Given the description of an element on the screen output the (x, y) to click on. 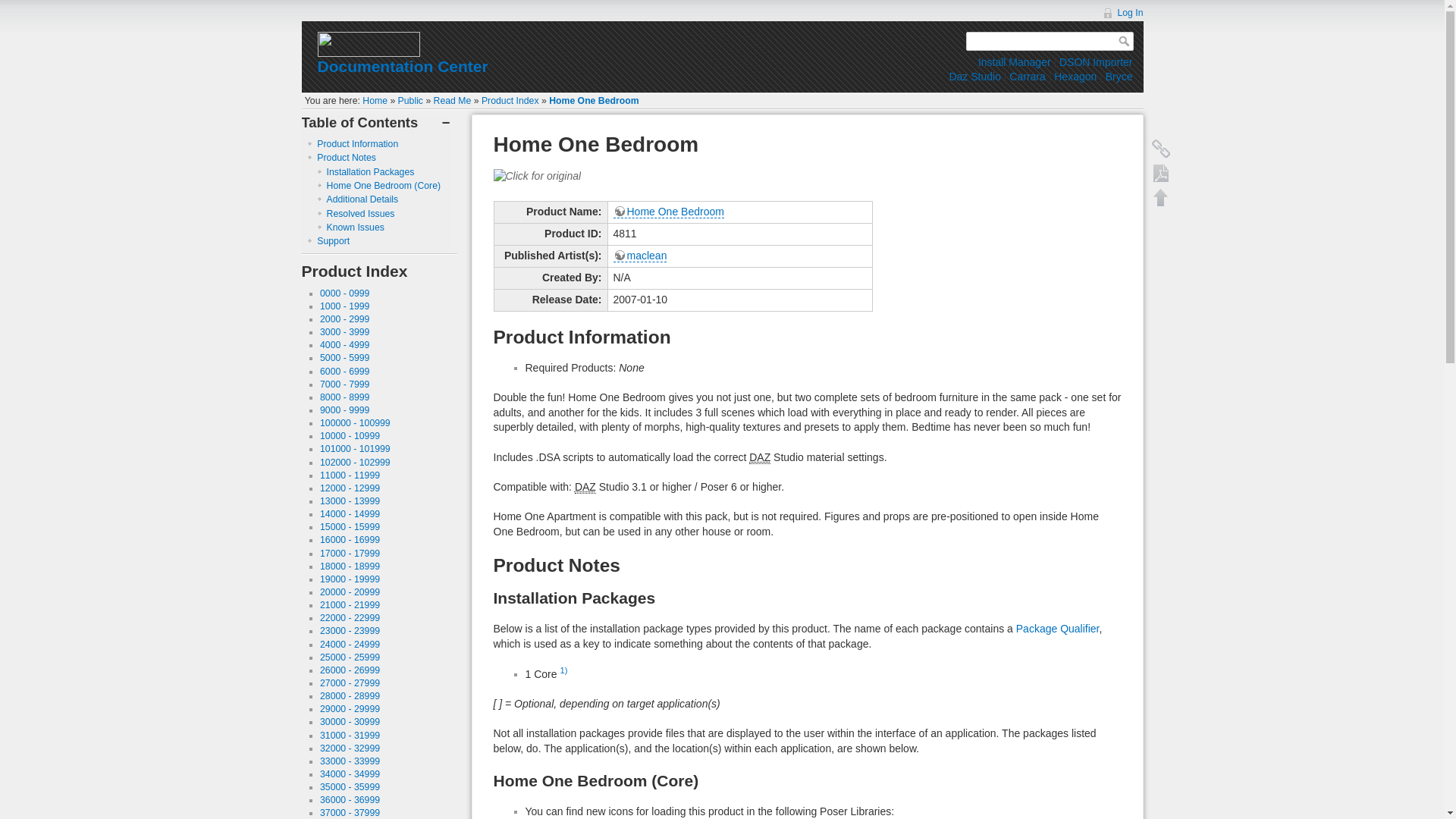
public:software:hexagon:start (1075, 76)
Carrara (1027, 76)
7000 - 7999 (344, 384)
Bryce (1118, 76)
8000 - 8999 (344, 397)
10000 - 10999 (350, 435)
Read Me (452, 100)
Home (374, 100)
Product Index (509, 100)
0000 - 0999 (344, 293)
Resolved Issues (360, 213)
101000 - 101999 (355, 448)
Daz Studio (974, 76)
public:software:carrara:start (1027, 76)
Support (333, 240)
